Given the description of an element on the screen output the (x, y) to click on. 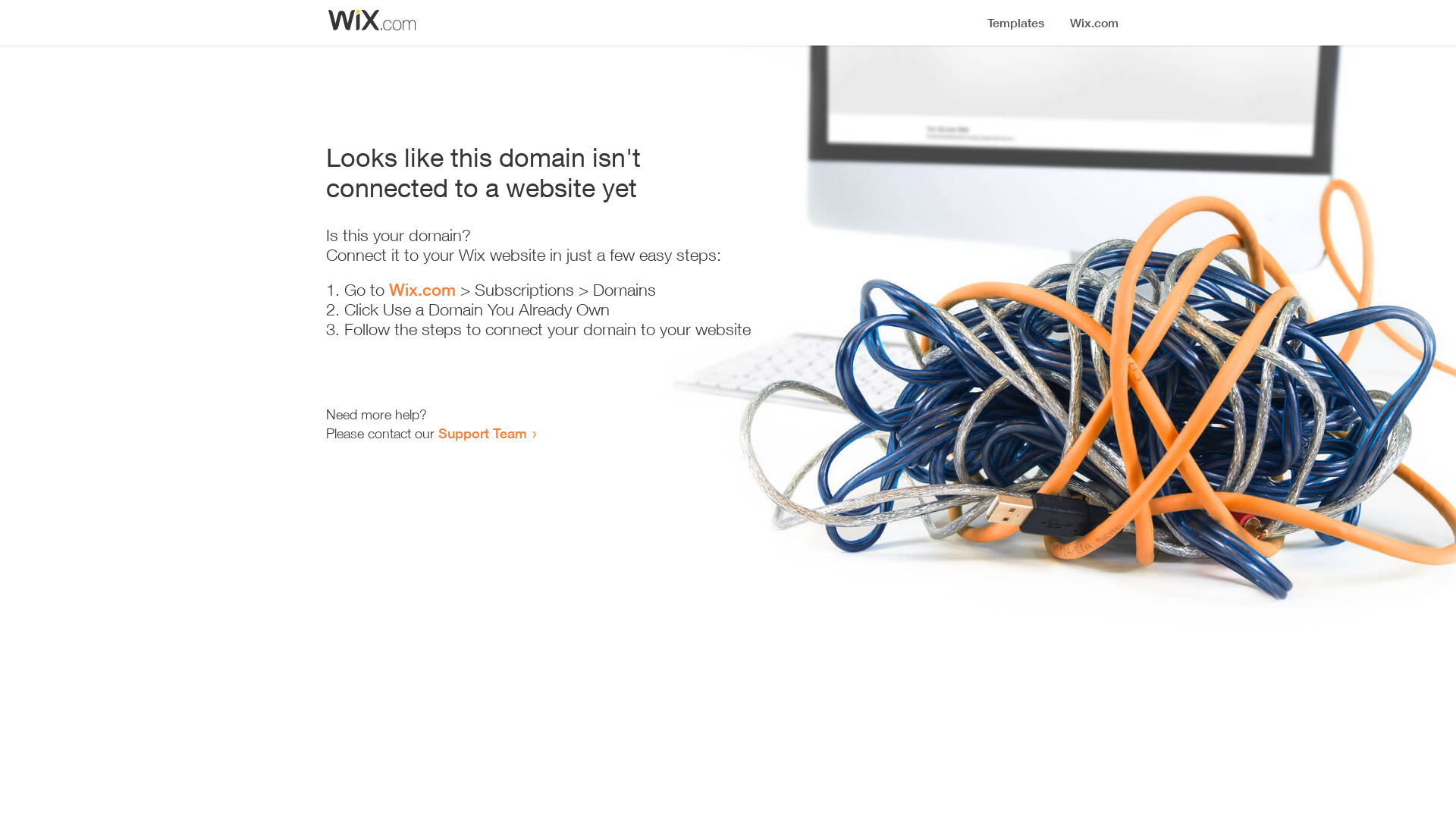
Support Team Element type: text (482, 432)
Wix.com Element type: text (422, 289)
